Given the description of an element on the screen output the (x, y) to click on. 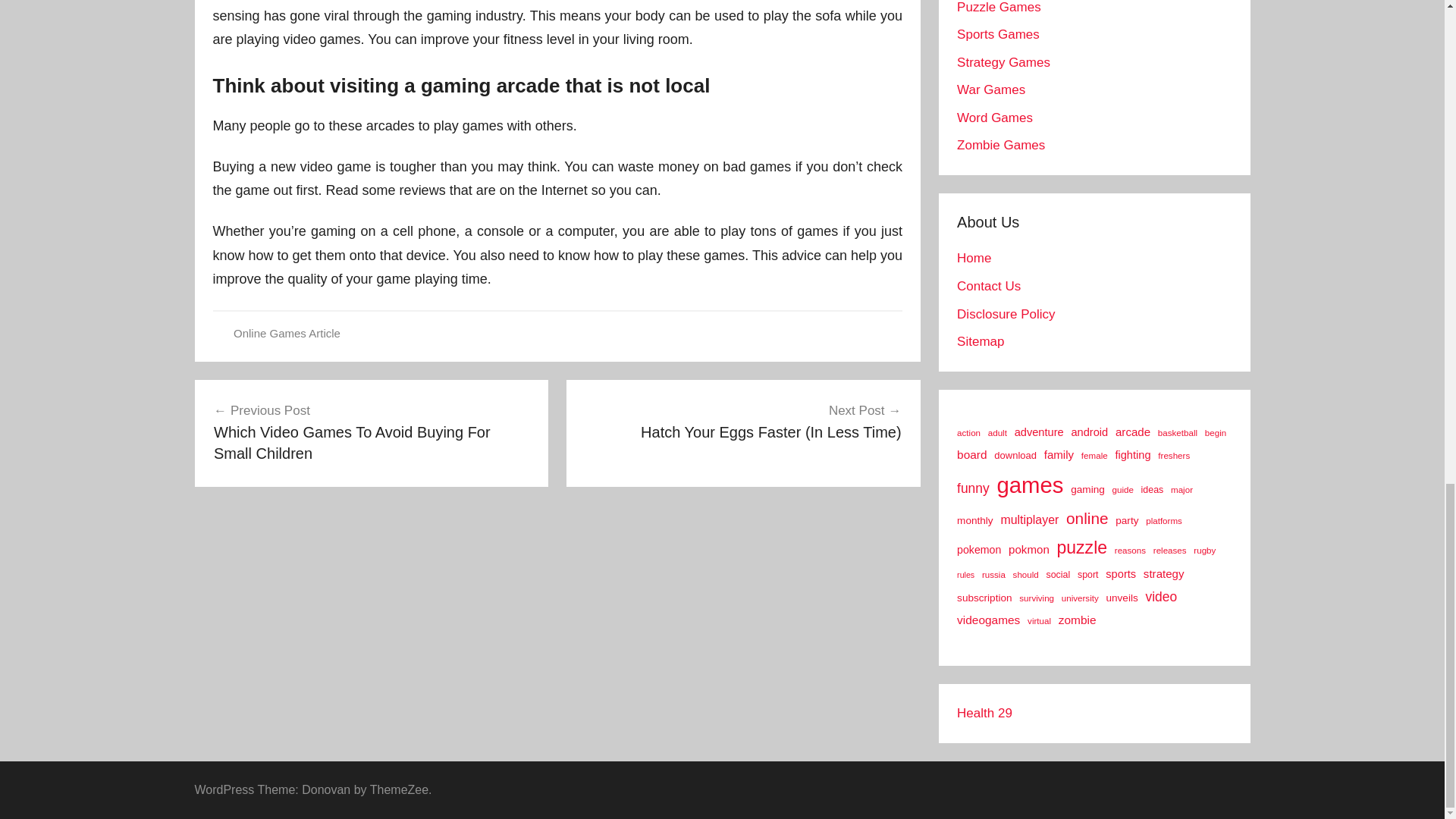
Online Games Article (286, 332)
